Given the description of an element on the screen output the (x, y) to click on. 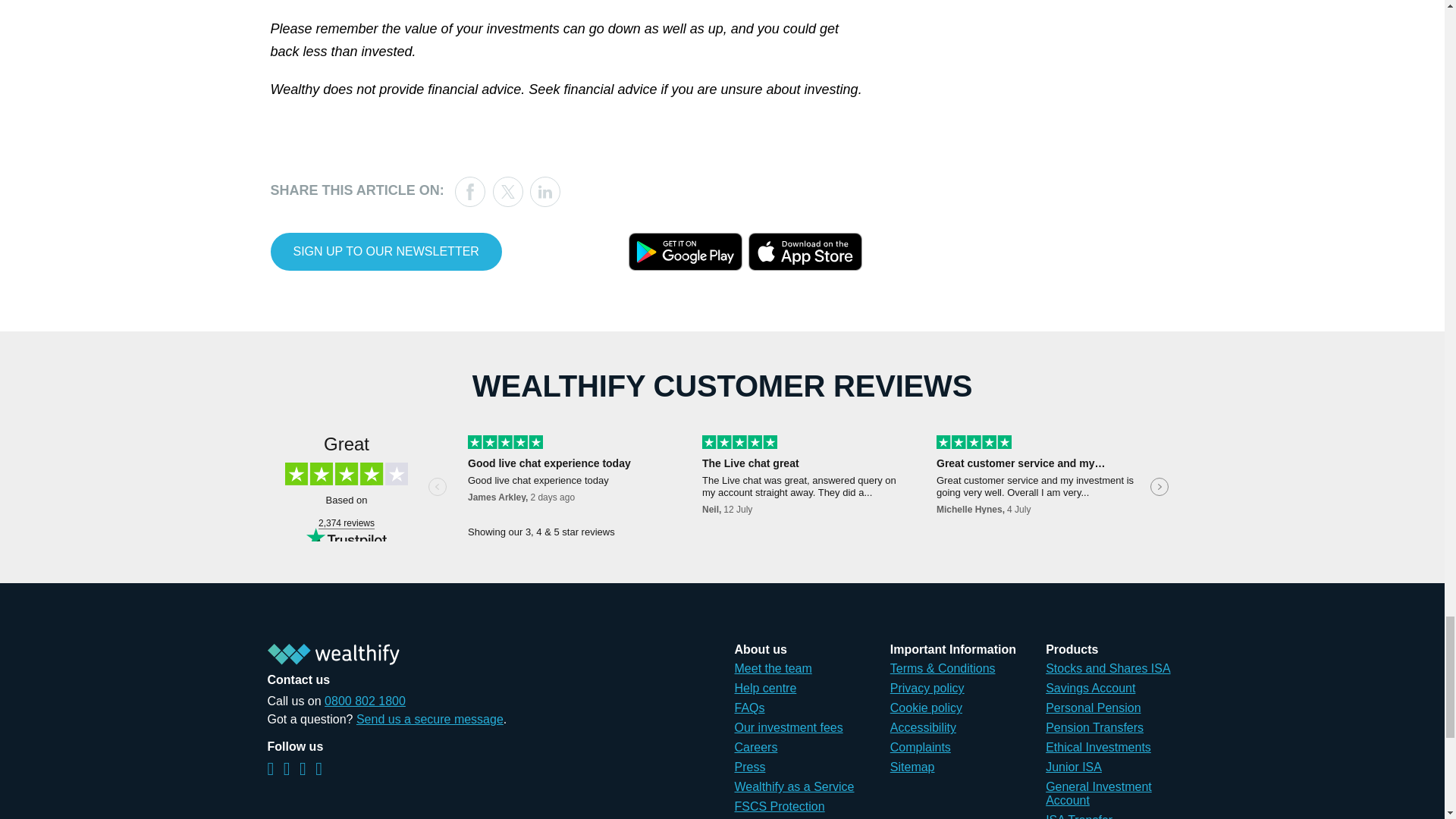
Customer reviews powered by Trustpilot (721, 487)
